Given the description of an element on the screen output the (x, y) to click on. 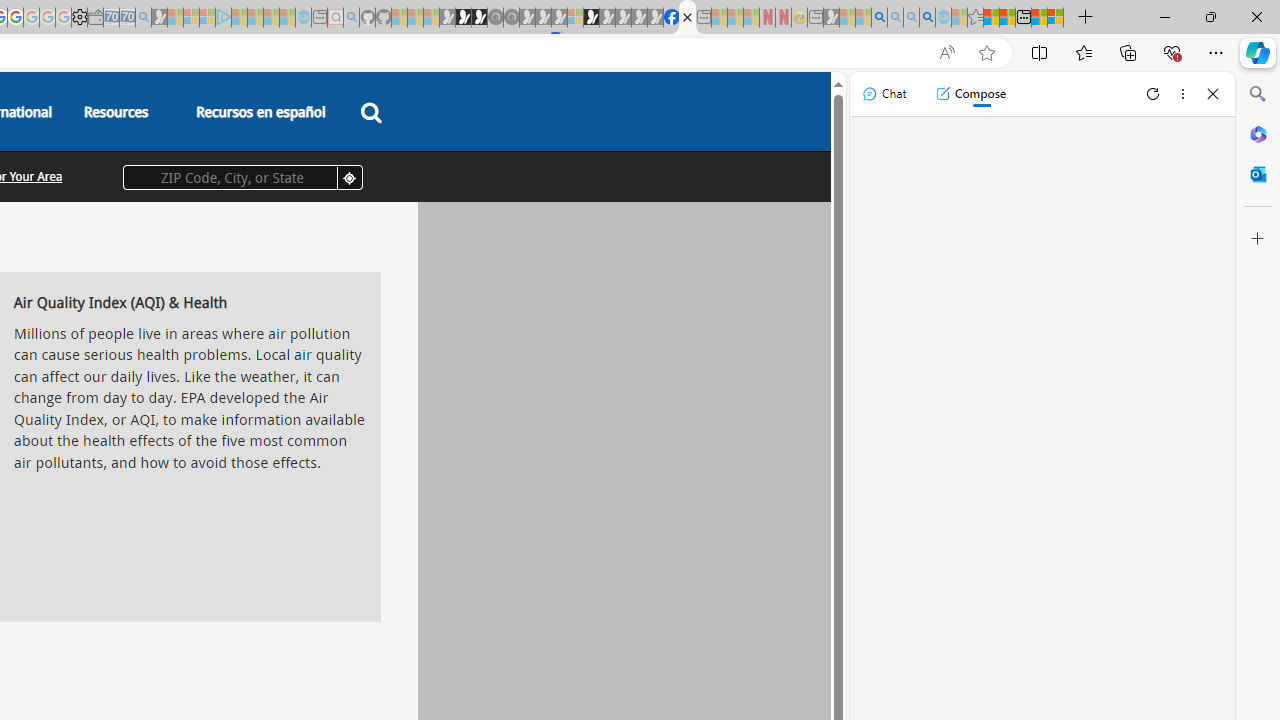
Bing AI - Search (879, 17)
